Given the description of an element on the screen output the (x, y) to click on. 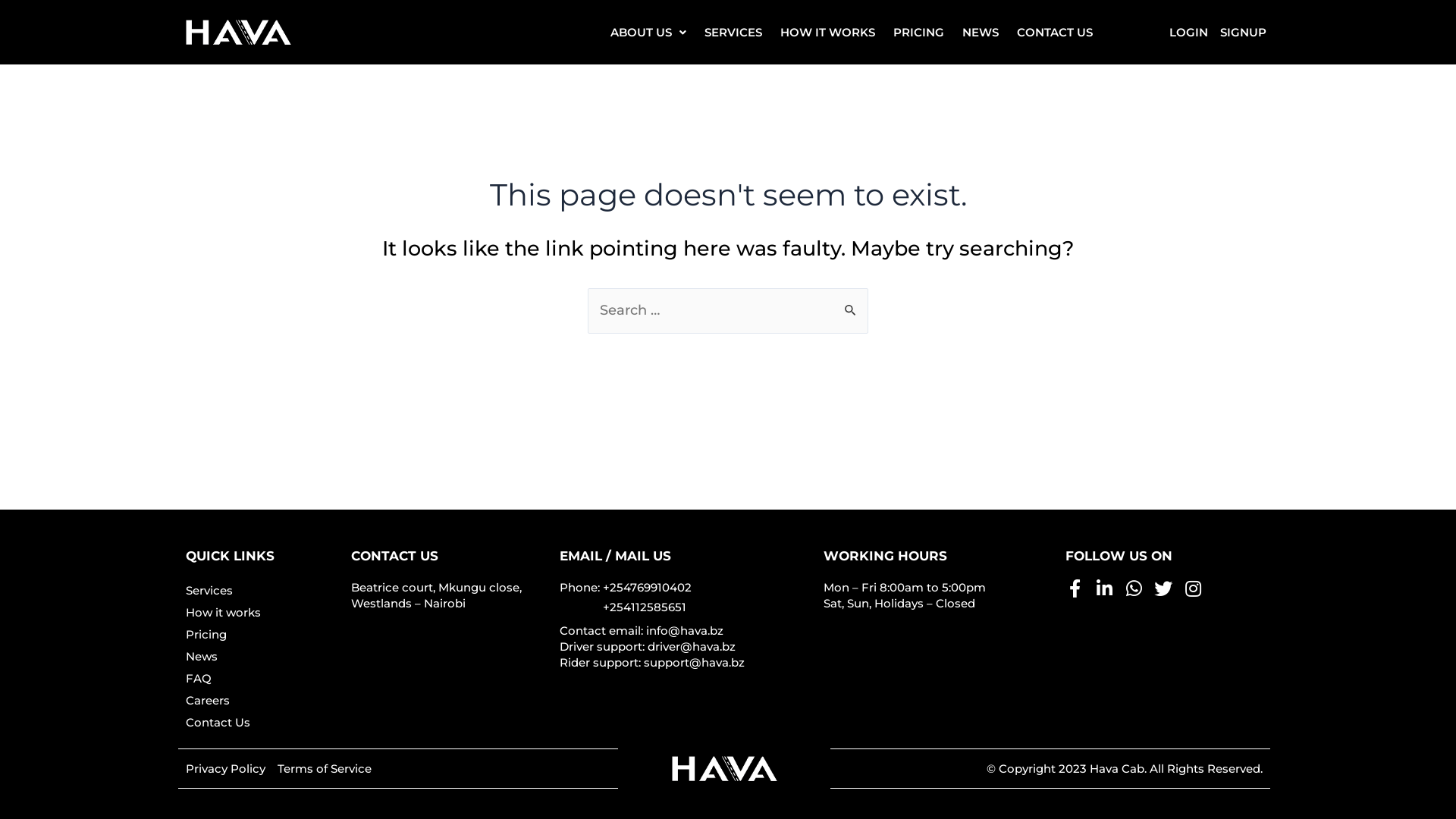
HOW IT WORKS Element type: text (827, 32)
info@hava.bz Element type: text (684, 630)
SERVICES Element type: text (733, 32)
News Element type: text (260, 656)
+254112585651 Element type: text (644, 606)
How it works Element type: text (260, 612)
NEWS Element type: text (980, 32)
Contact Us Element type: text (260, 722)
FAQ Element type: text (260, 678)
Careers Element type: text (260, 700)
driver@hava.bz Element type: text (691, 646)
LOGIN Element type: text (1188, 32)
support@hava.bz Element type: text (693, 662)
Pricing Element type: text (260, 634)
PRICING Element type: text (918, 32)
ABOUT US Element type: text (648, 32)
SIGNUP Element type: text (1243, 32)
Search Element type: text (851, 304)
Privacy Policy Element type: text (225, 768)
Services Element type: text (260, 590)
+254769910402 Element type: text (646, 587)
CONTACT US Element type: text (1054, 32)
Terms of Service Element type: text (324, 768)
